Given the description of an element on the screen output the (x, y) to click on. 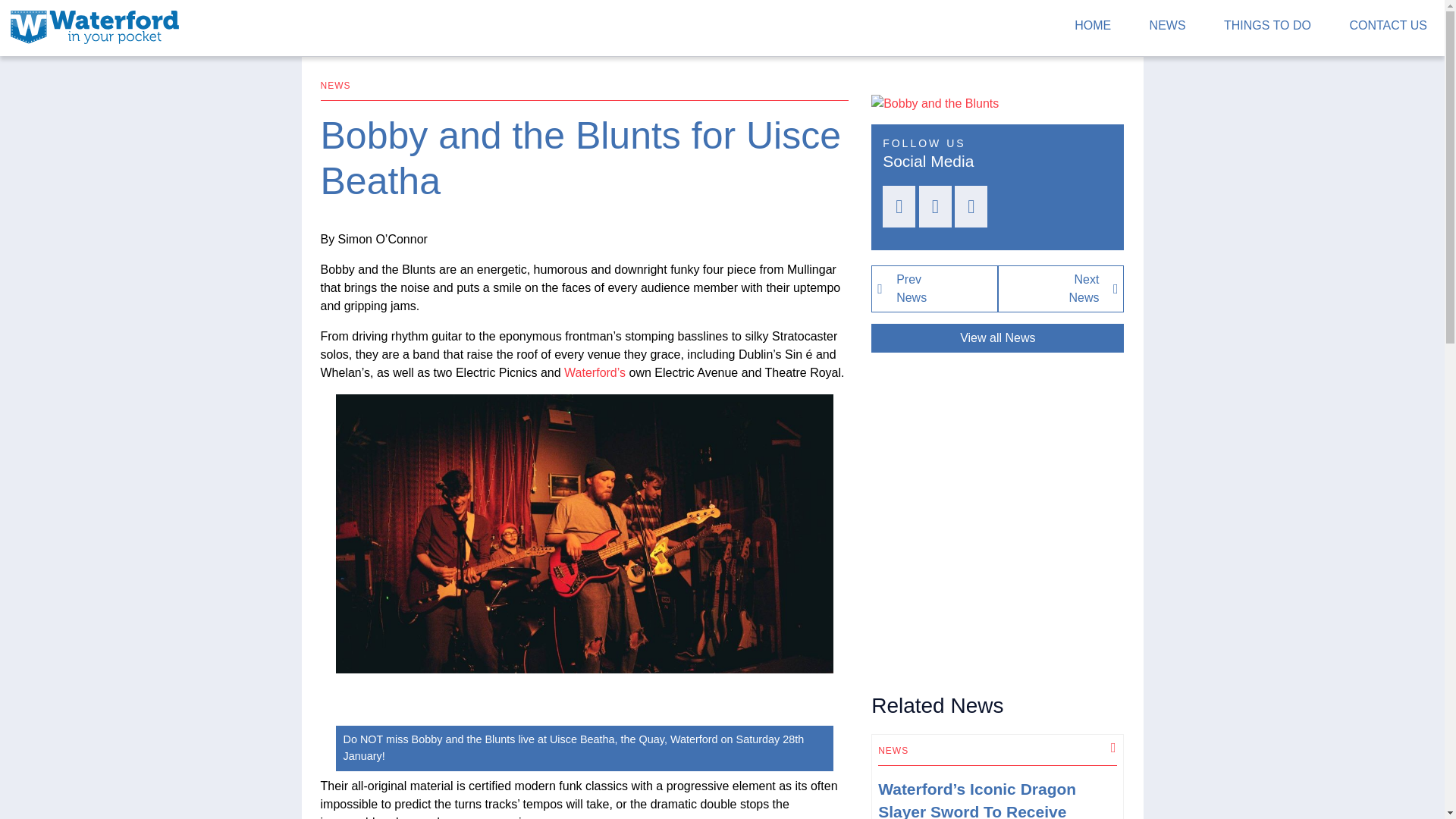
HOME (1092, 28)
NEWS (1060, 288)
View all News (1168, 28)
Waterford in Your Pocket logo (997, 337)
NEWS (933, 288)
NEWS (94, 25)
